Given the description of an element on the screen output the (x, y) to click on. 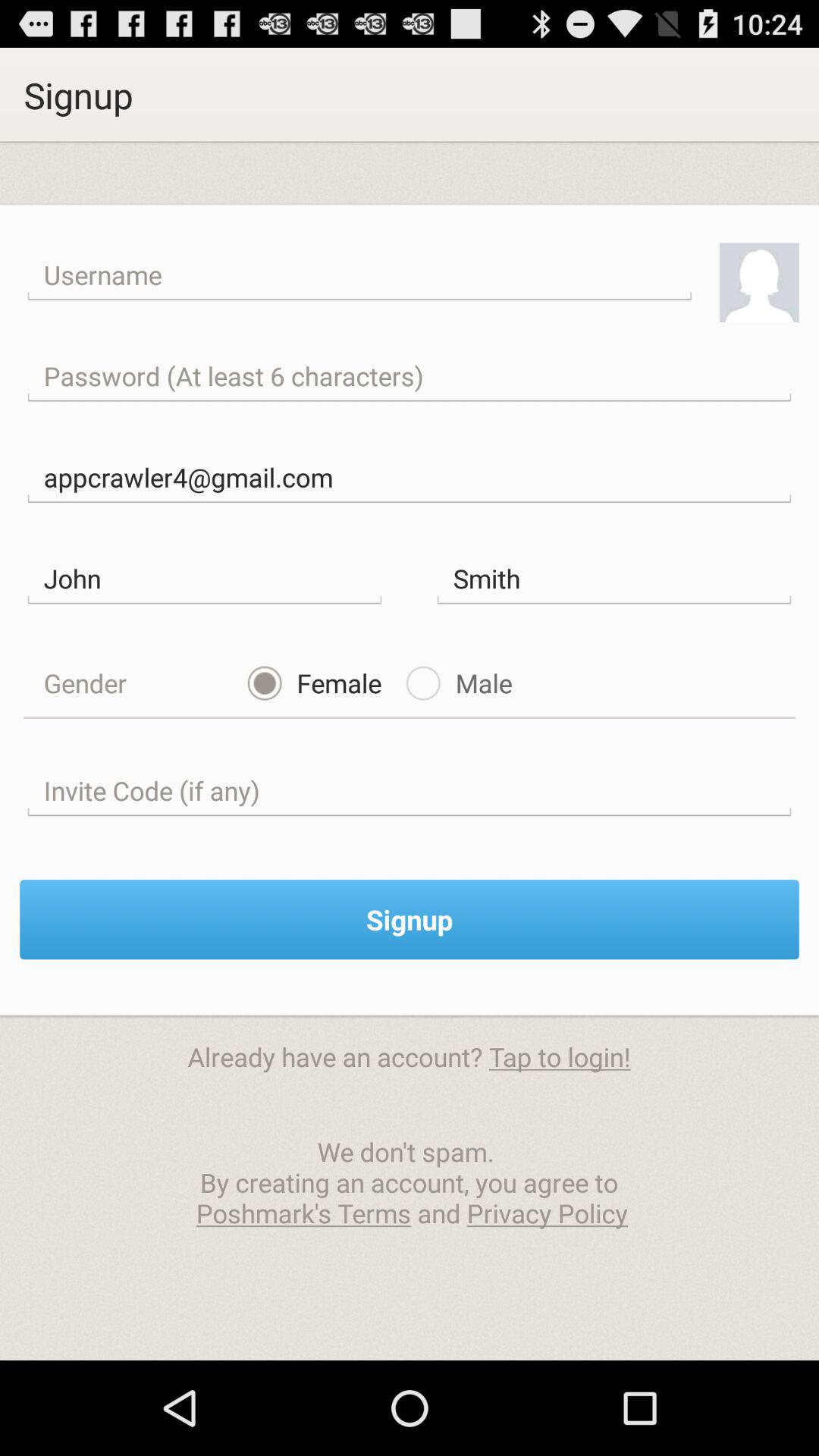
insert username (359, 275)
